Given the description of an element on the screen output the (x, y) to click on. 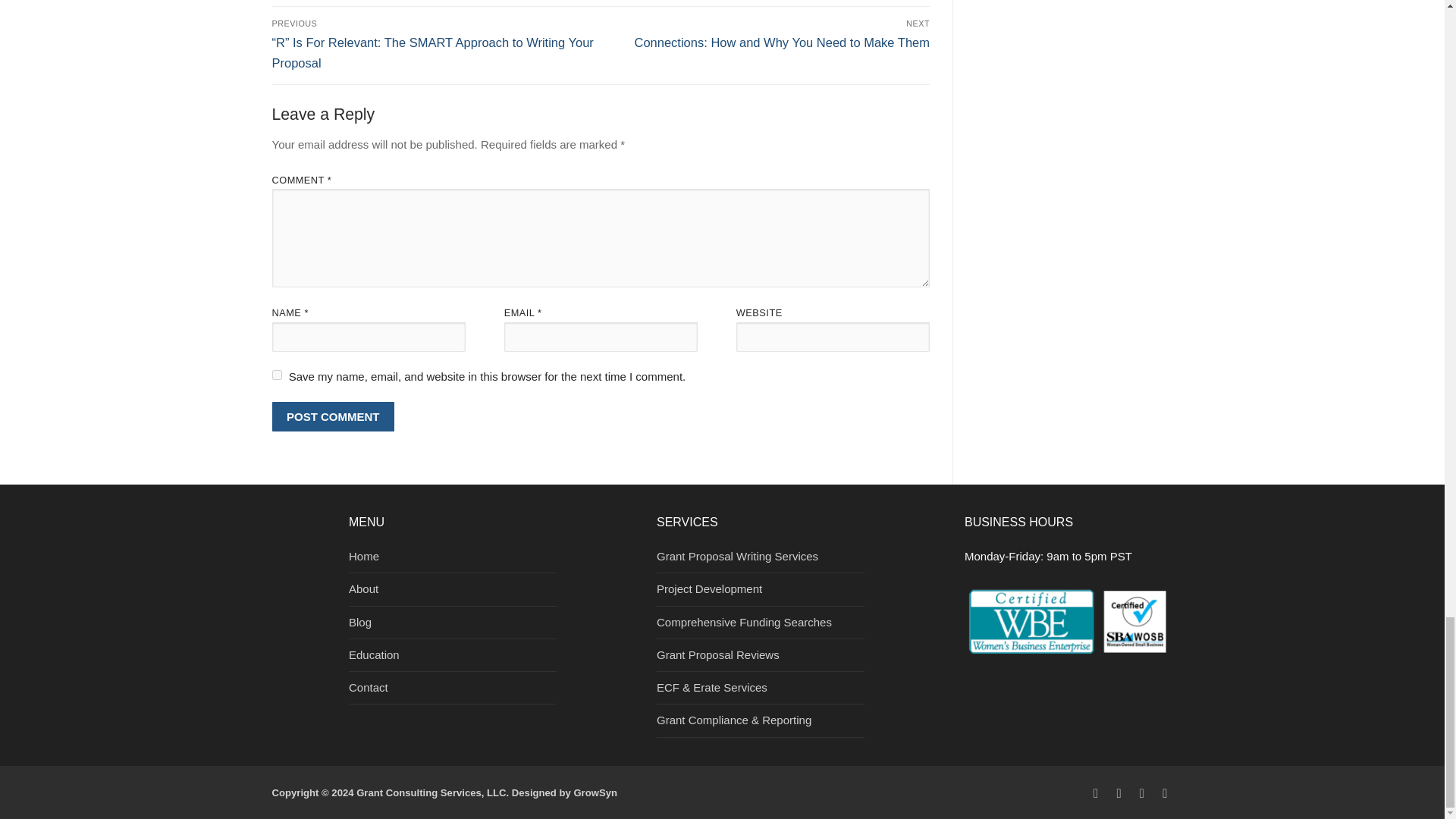
X (1141, 793)
Youtube (1095, 793)
yes (275, 375)
Post Comment (332, 416)
FaceBook (1165, 793)
Linkedin (1118, 793)
